Given the description of an element on the screen output the (x, y) to click on. 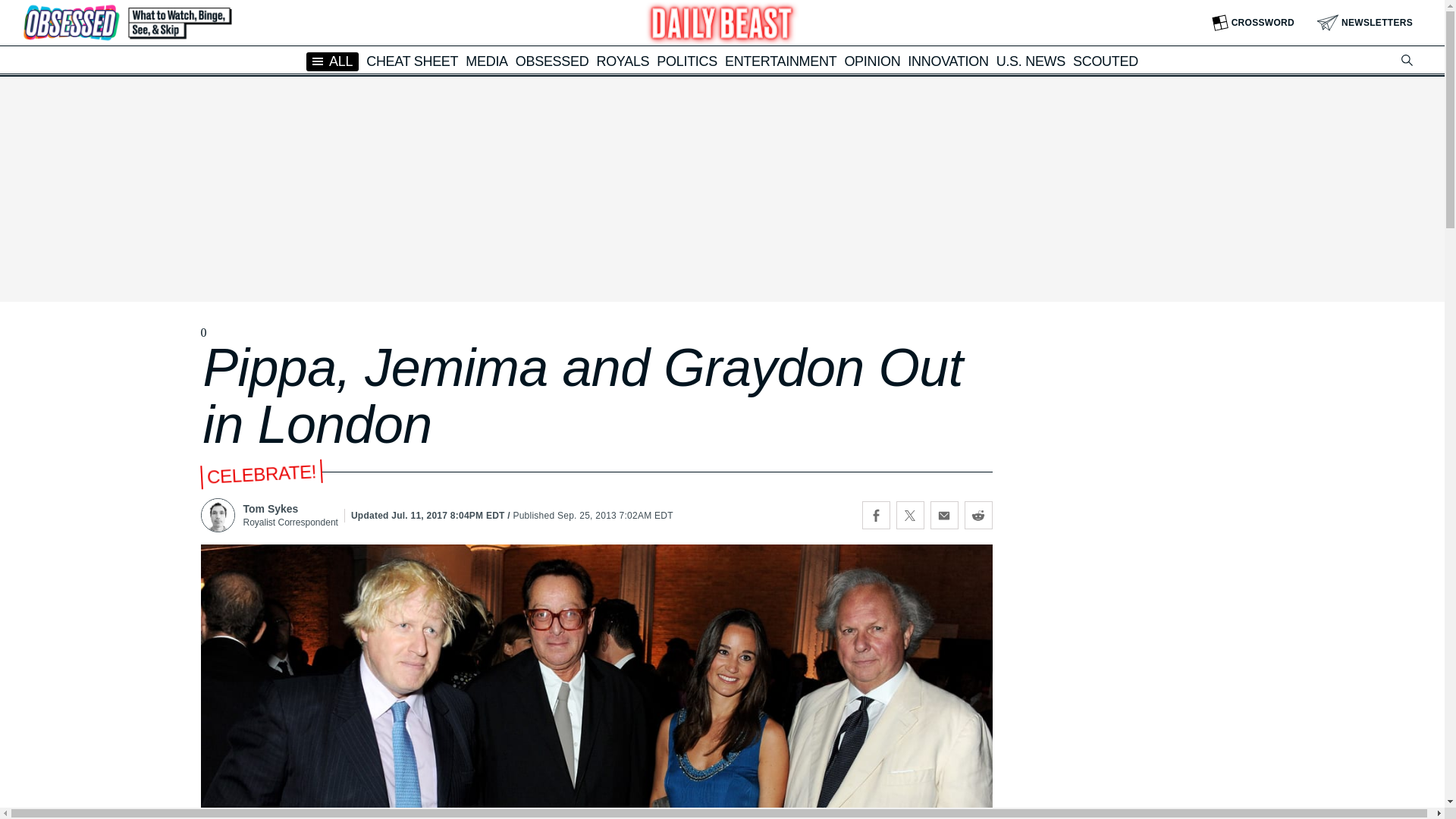
NEWSLETTERS (1364, 22)
ROYALS (622, 60)
OBSESSED (552, 60)
POLITICS (686, 60)
OPINION (871, 60)
MEDIA (486, 60)
ENTERTAINMENT (780, 60)
CHEAT SHEET (412, 60)
SCOUTED (1105, 60)
CROSSWORD (1252, 22)
